Given the description of an element on the screen output the (x, y) to click on. 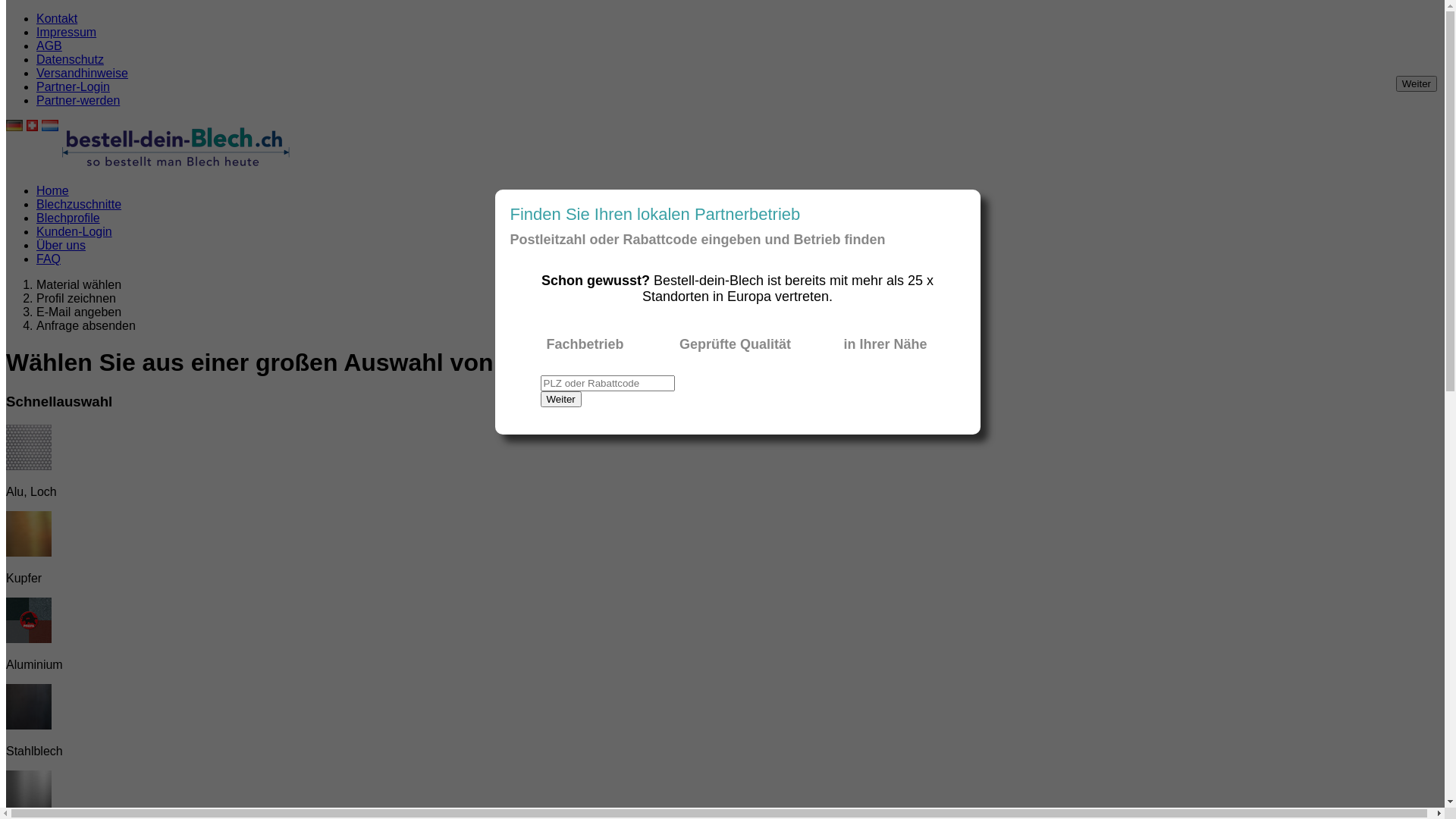
Partner-Login Element type: text (72, 86)
Blechprofile Element type: text (68, 217)
Weiter Element type: text (559, 399)
Kontakt Element type: text (56, 18)
Bestell dein Blech Schweiz Element type: hover (175, 164)
Weiter Element type: text (1416, 83)
Home Element type: text (52, 190)
Blechzuschnitte Element type: text (78, 203)
Impressum Element type: text (66, 31)
Versandhinweise Element type: text (82, 72)
Kunden-Login Element type: text (74, 231)
Partner-werden Element type: text (77, 100)
AGB Element type: text (49, 45)
Datenschutz Element type: text (69, 59)
bestell-dein-Blech.ch Element type: hover (175, 144)
FAQ Element type: text (48, 258)
